Given the description of an element on the screen output the (x, y) to click on. 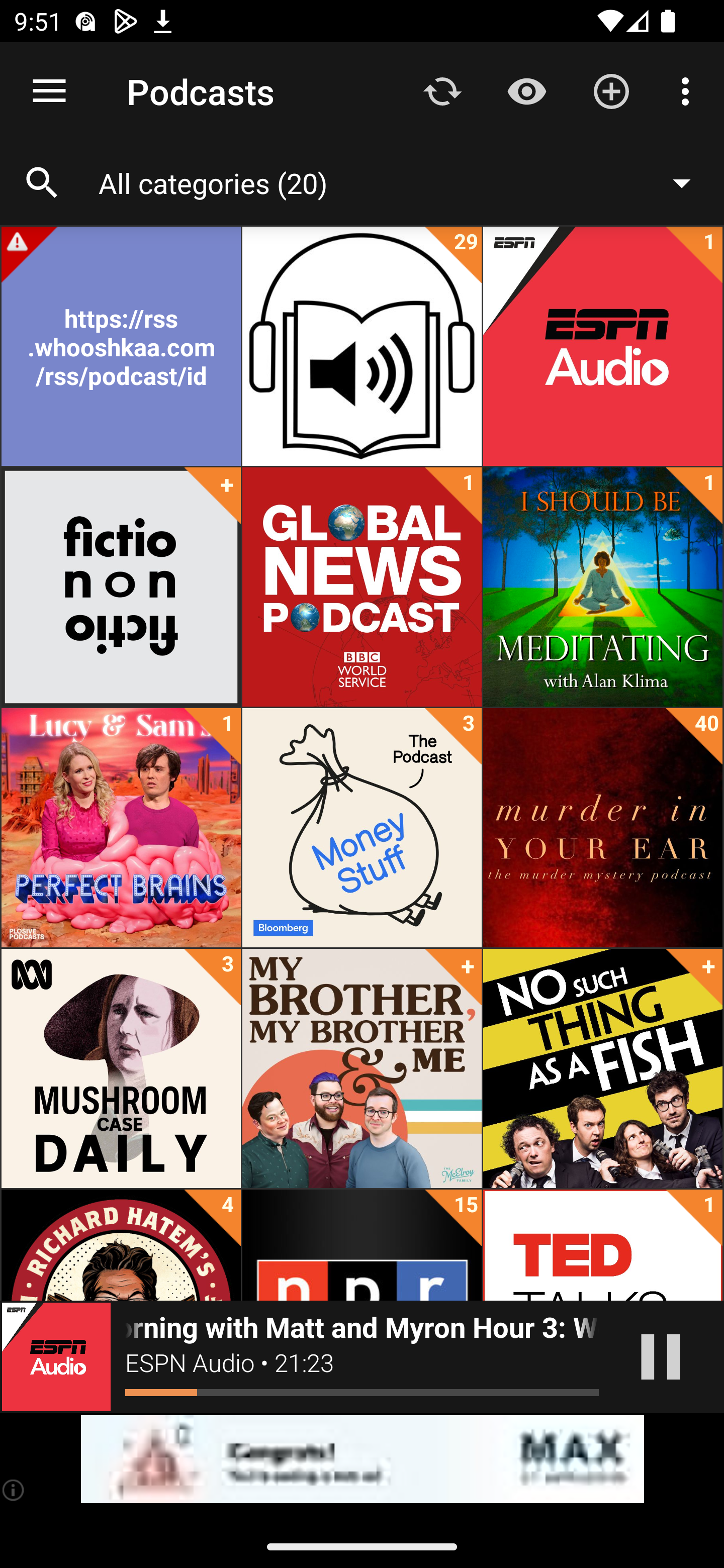
Open navigation sidebar (49, 91)
Update (442, 90)
Show / Hide played content (526, 90)
Add new Podcast (611, 90)
More options (688, 90)
Search (42, 183)
All categories (20) (404, 182)
https://rss.whooshkaa.com/rss/podcast/id/5884 (121, 346)
Audiobooks 29 (361, 346)
ESPN Audio 1 (602, 346)
fiction/non/fiction + (121, 587)
Global News Podcast 1 (361, 587)
Lucy & Sam's Perfect Brains 1 (121, 827)
Money Stuff: The Podcast 3 (361, 827)
Murder In Your Ear-The Murder Mystery Podcast 40 (602, 827)
Mushroom Case Daily 3 (121, 1068)
My Brother, My Brother And Me + (361, 1068)
No Such Thing As A Fish + (602, 1068)
Play / Pause (660, 1356)
app-monetization (362, 1459)
(i) (14, 1489)
